Given the description of an element on the screen output the (x, y) to click on. 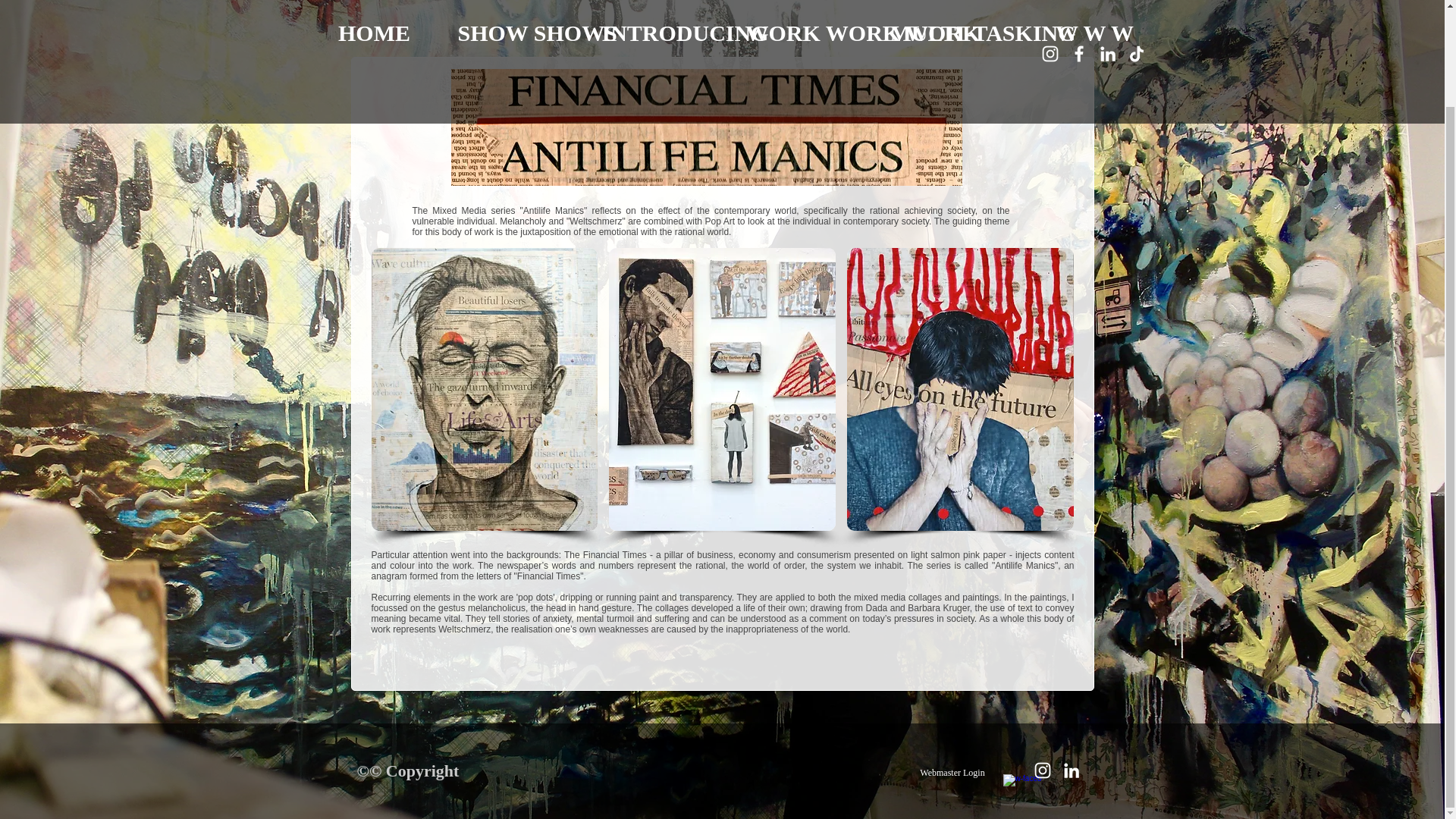
Webmaster Login (952, 772)
